Given the description of an element on the screen output the (x, y) to click on. 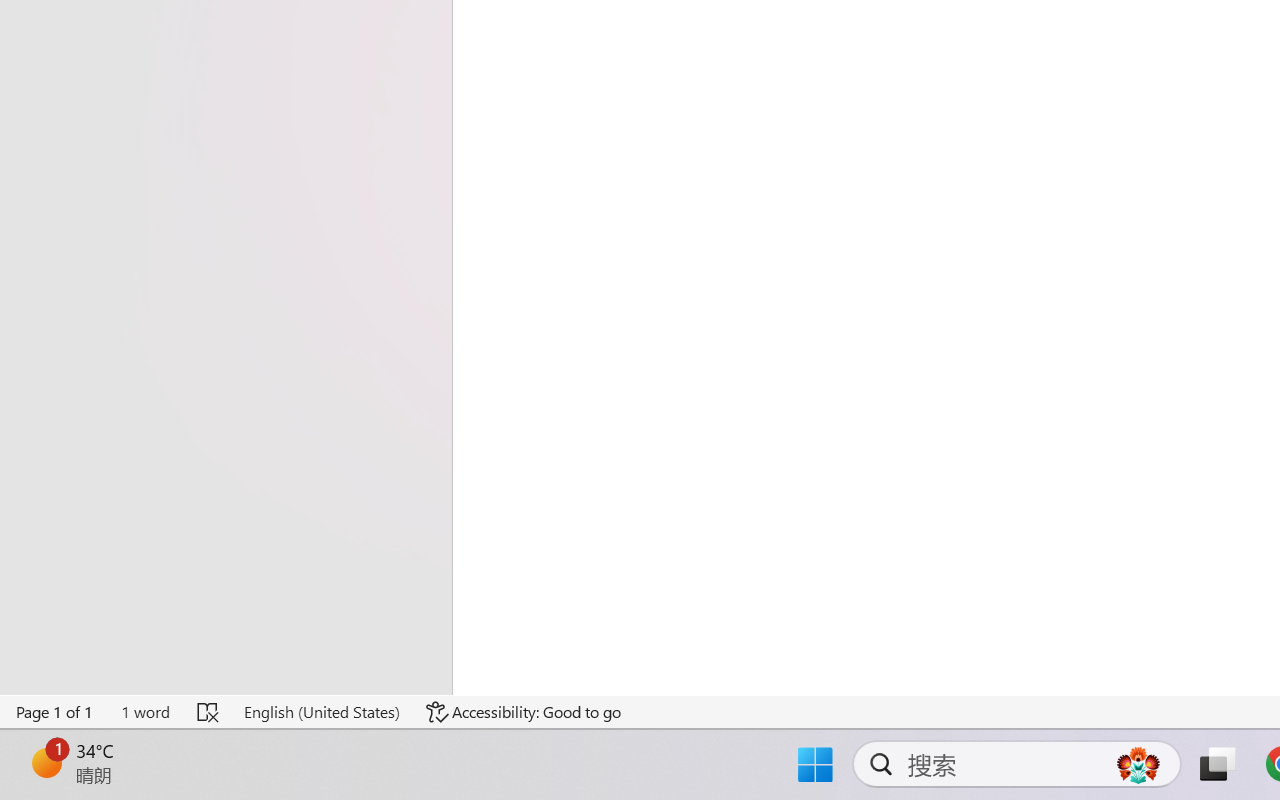
Spelling and Grammar Check Errors (208, 712)
